Given the description of an element on the screen output the (x, y) to click on. 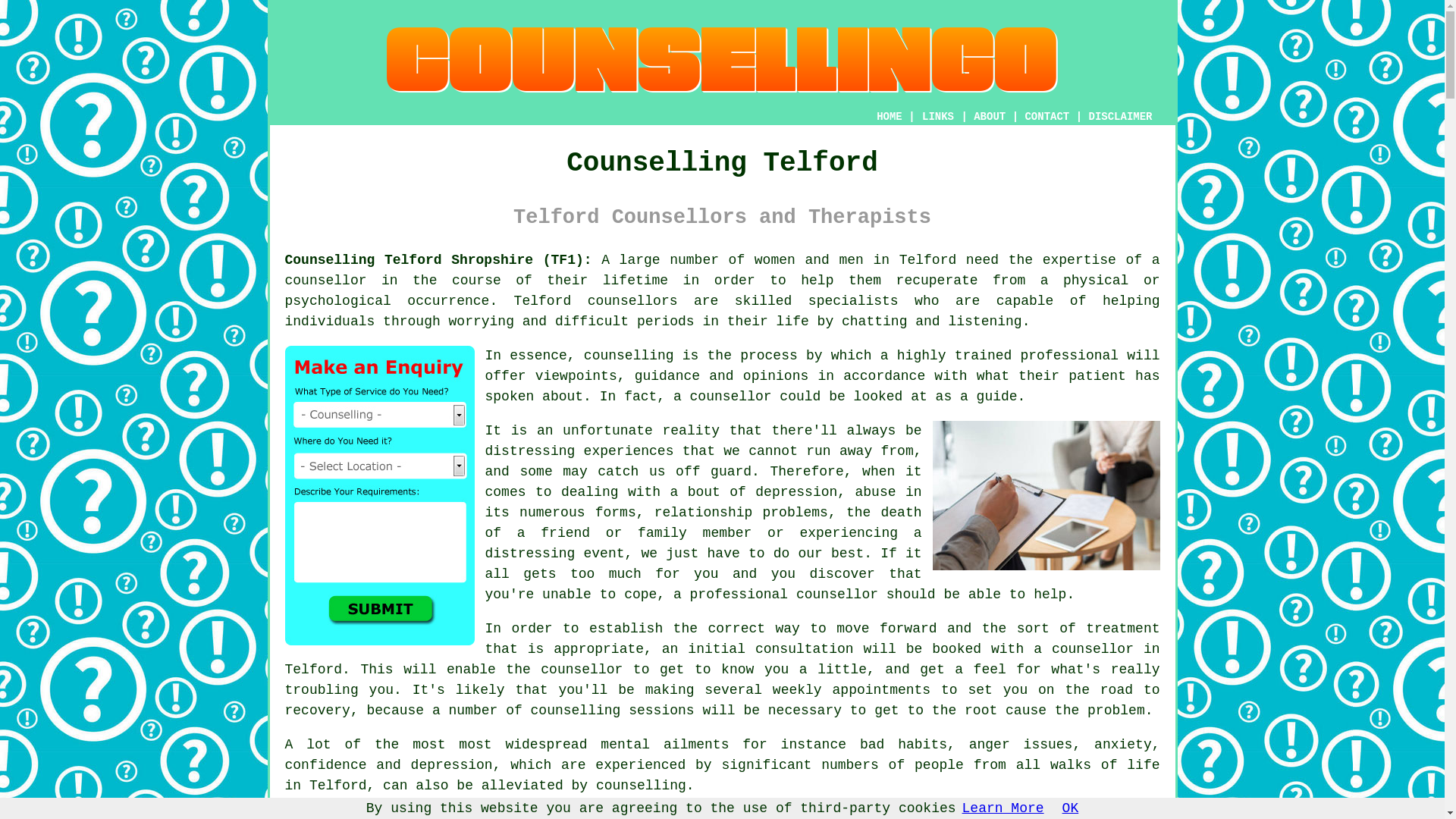
LINKS (938, 116)
HOME (889, 116)
Counselling Telford (721, 60)
